Given the description of an element on the screen output the (x, y) to click on. 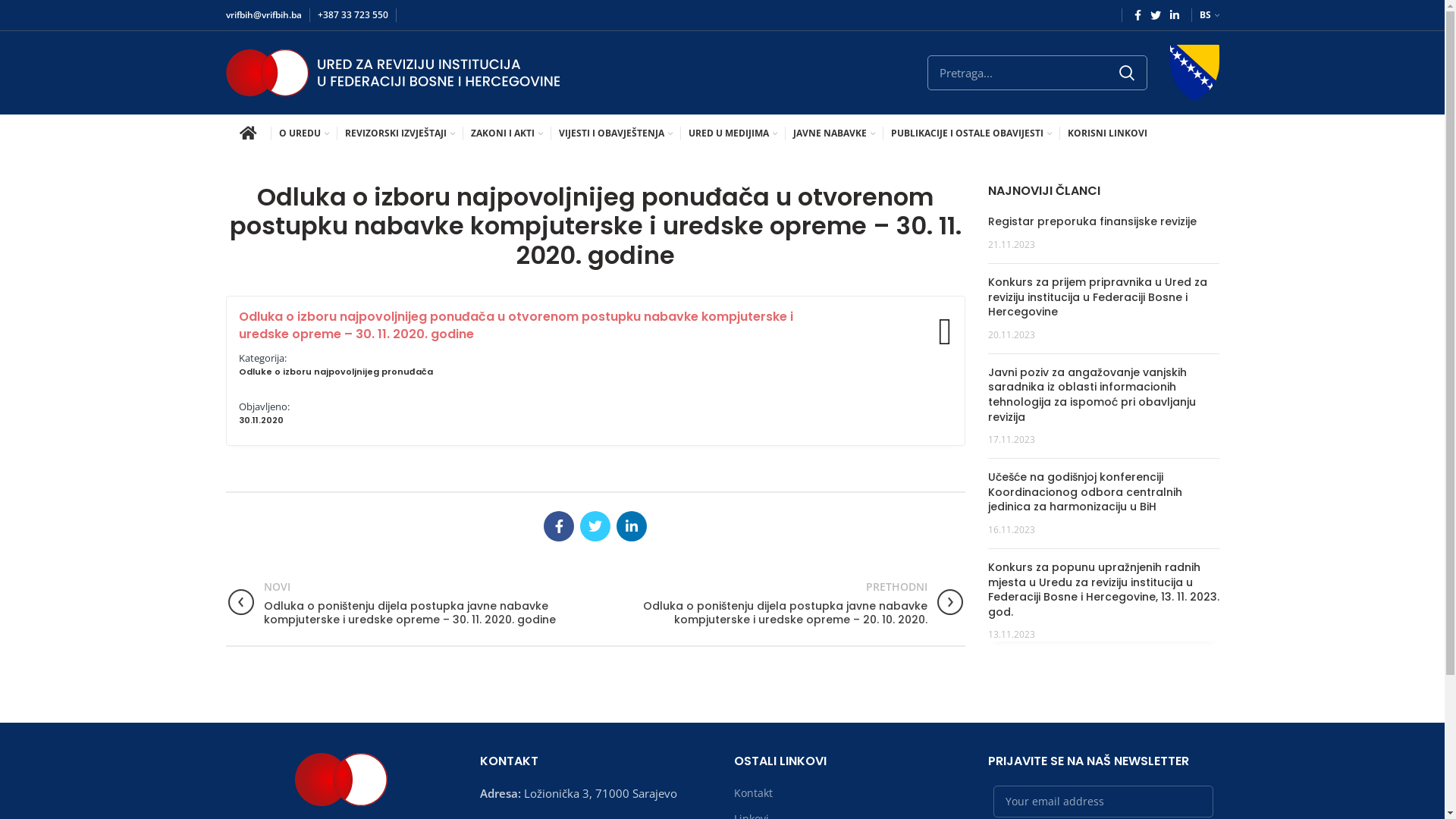
Facebook Element type: text (1137, 15)
vrifbih@vrifbih.ba Element type: text (263, 14)
PUBLIKACIJE I OSTALE OBAVIJESTI Element type: text (970, 133)
linkedin Element type: text (631, 526)
ZAKONI I AKTI Element type: text (505, 133)
JAVNE NABAVKE Element type: text (833, 133)
O UREDU Element type: text (303, 133)
Twitter Element type: text (595, 526)
Facebook Element type: text (558, 526)
KORISNI LINKOVI Element type: text (1107, 133)
URED U MEDIJIMA Element type: text (732, 133)
Registar preporuka finansijske revizije Element type: text (1091, 221)
linkedin Element type: text (1173, 15)
Kontakt Element type: text (754, 792)
SEARCH Element type: text (1126, 72)
BS Element type: text (1209, 15)
Twitter Element type: text (1154, 15)
